Given the description of an element on the screen output the (x, y) to click on. 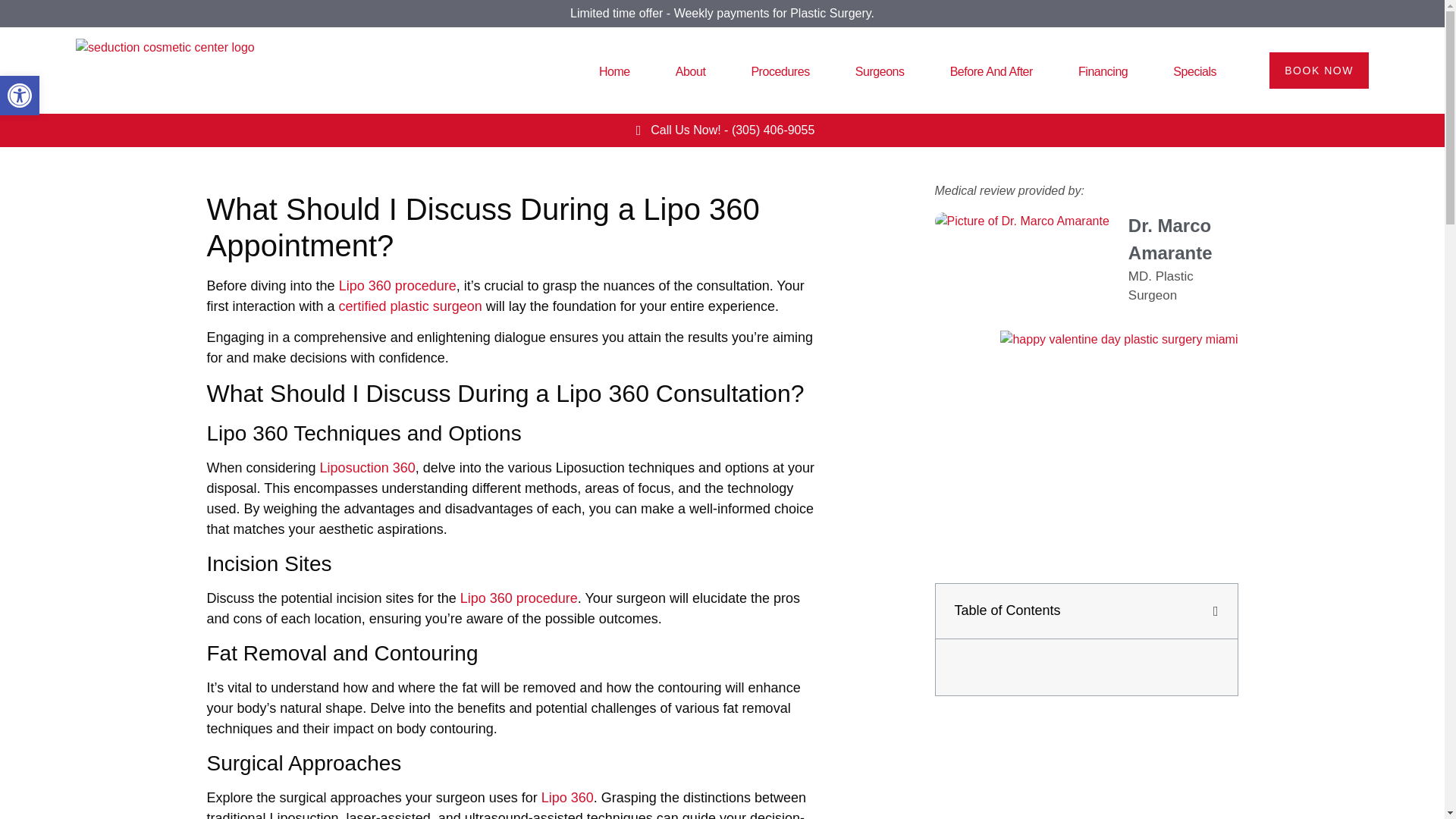
Limited time offer - Weekly payments for Plastic Surgery. (722, 12)
Accessibility Tools (19, 95)
Accessibility Tools (19, 95)
seduction-logo (164, 70)
Procedures (779, 71)
About (690, 71)
Home (614, 71)
